Given the description of an element on the screen output the (x, y) to click on. 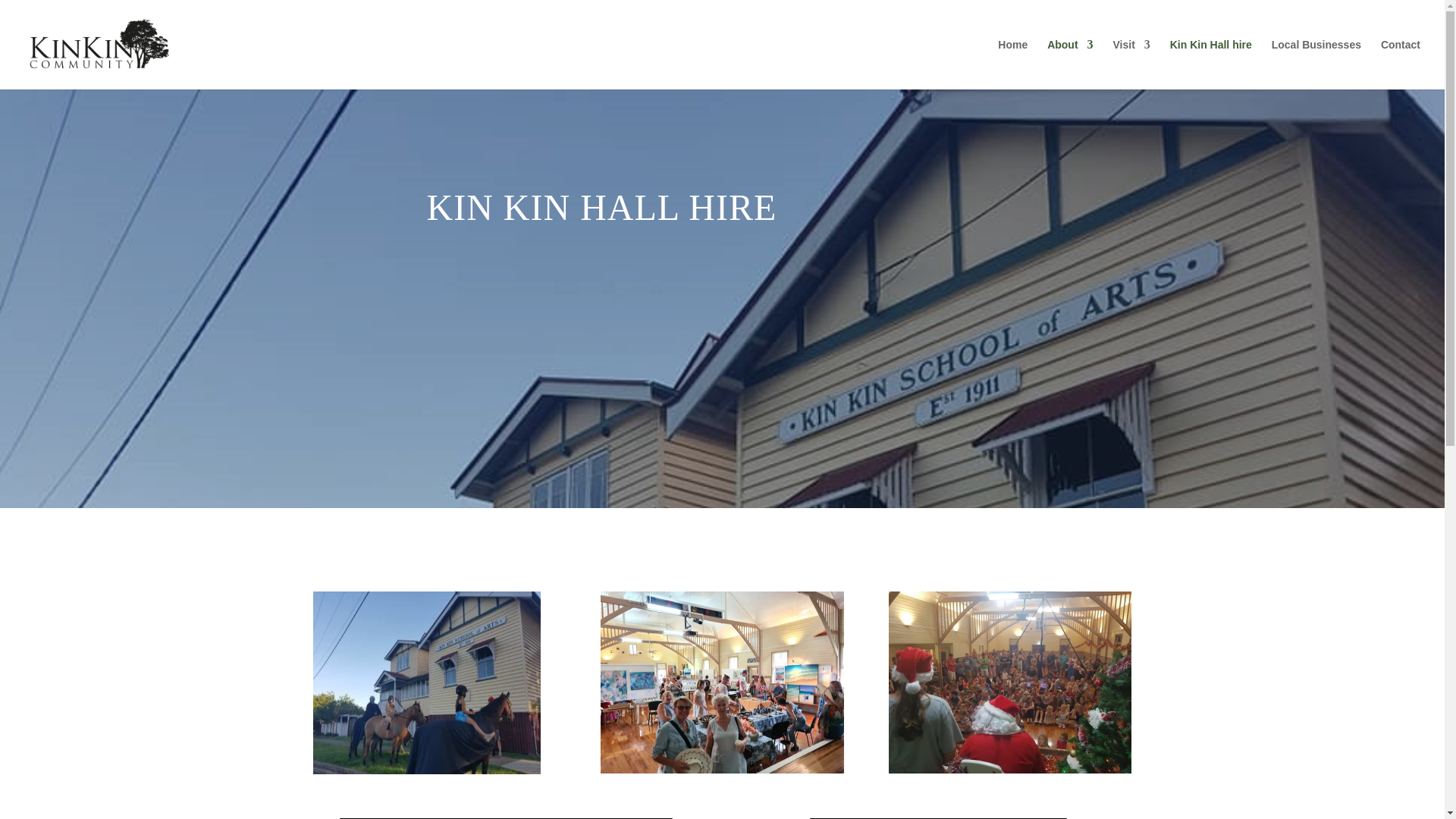
KK xmas 2018 (1009, 682)
Kin Kin Hall hire (1211, 64)
4 (721, 682)
About (1069, 64)
KK halloween 2018 horses hall (426, 682)
Local Businesses (1316, 64)
